Given the description of an element on the screen output the (x, y) to click on. 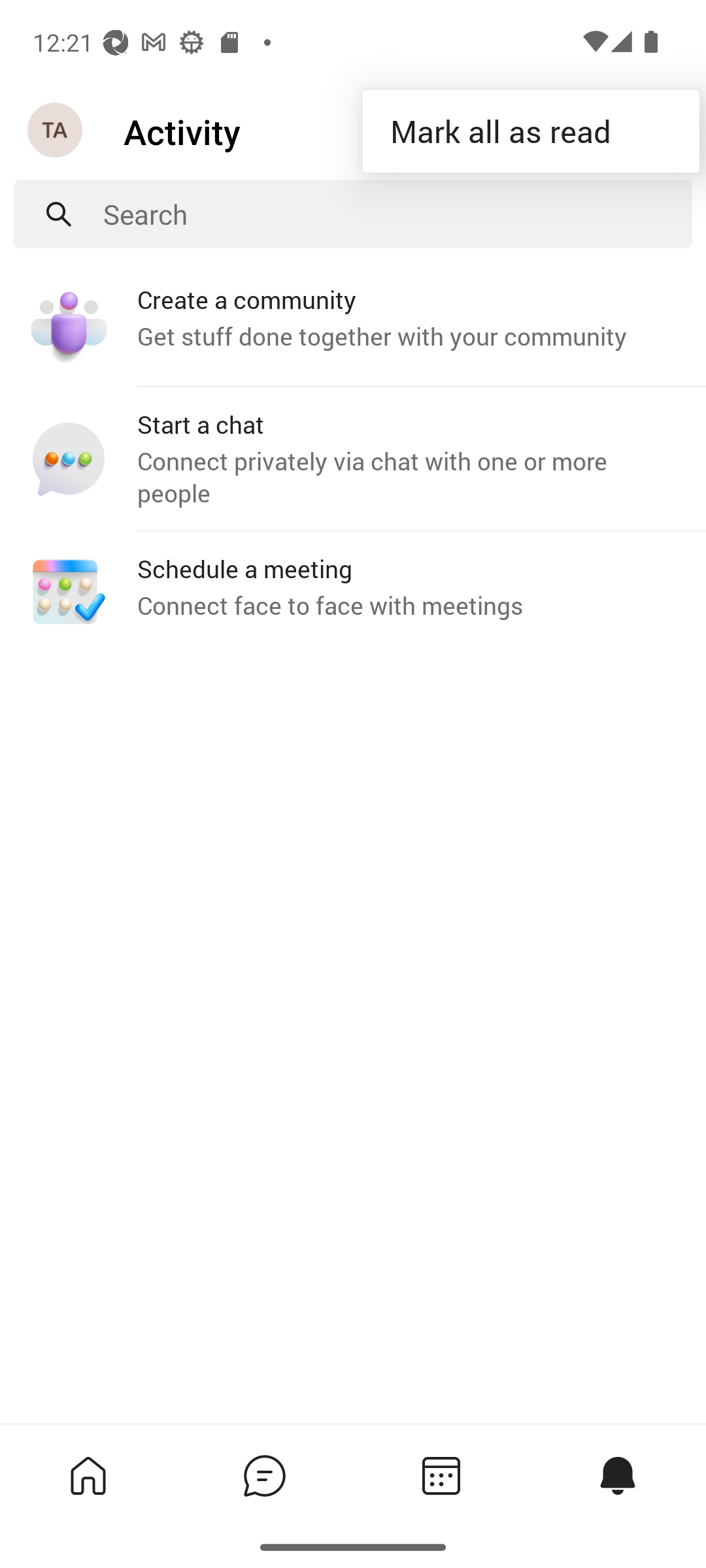
Mark all as read (530, 131)
